Given the description of an element on the screen output the (x, y) to click on. 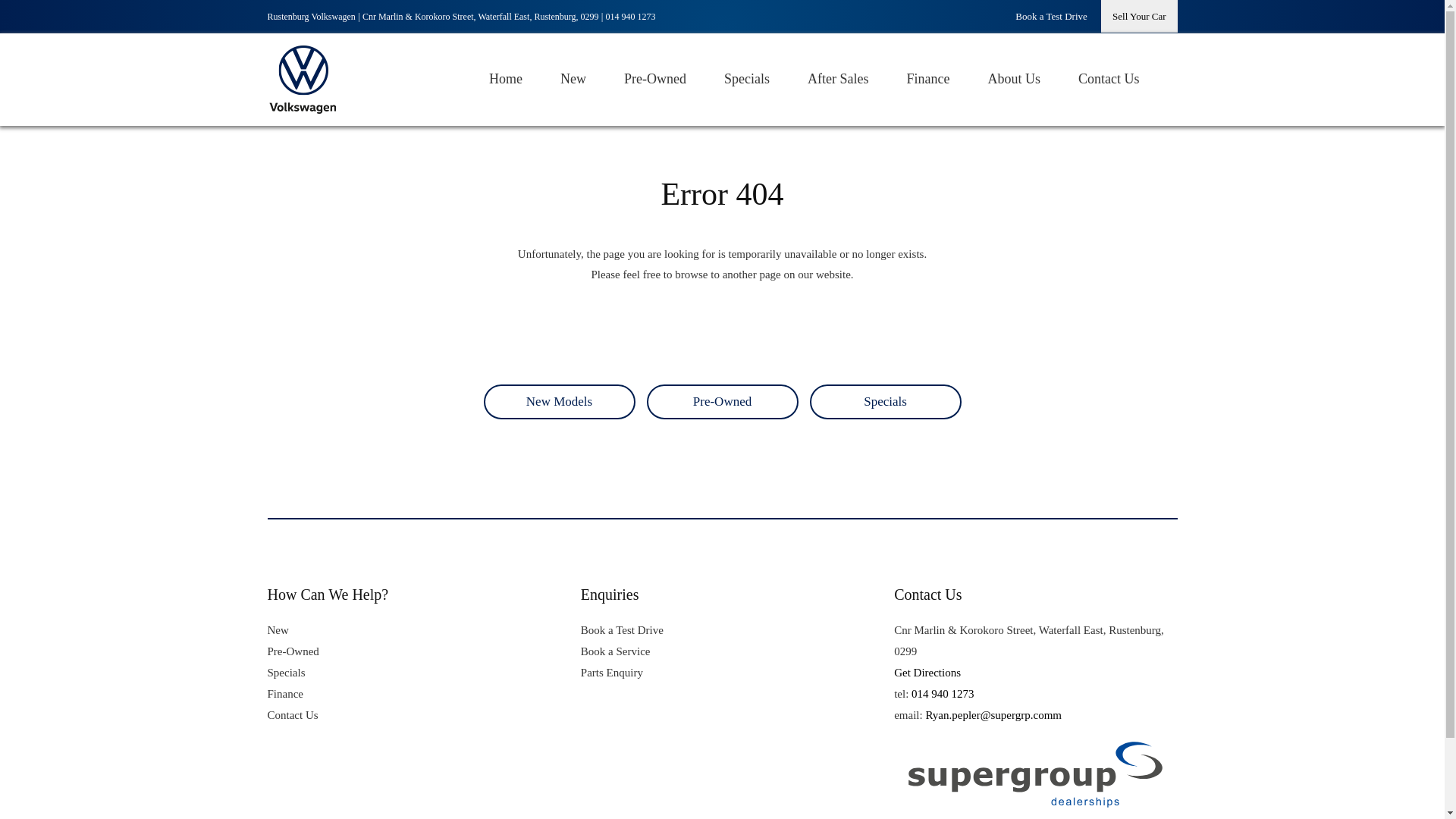
Sell Your Car (1138, 16)
014 940 1273 (630, 16)
Contact Us (1108, 79)
After Sales (837, 79)
Pre-Owned (721, 401)
Home (505, 79)
Specials (746, 79)
About Us (1013, 79)
Pre-Owned (292, 651)
Book a Test Drive (1051, 16)
